Given the description of an element on the screen output the (x, y) to click on. 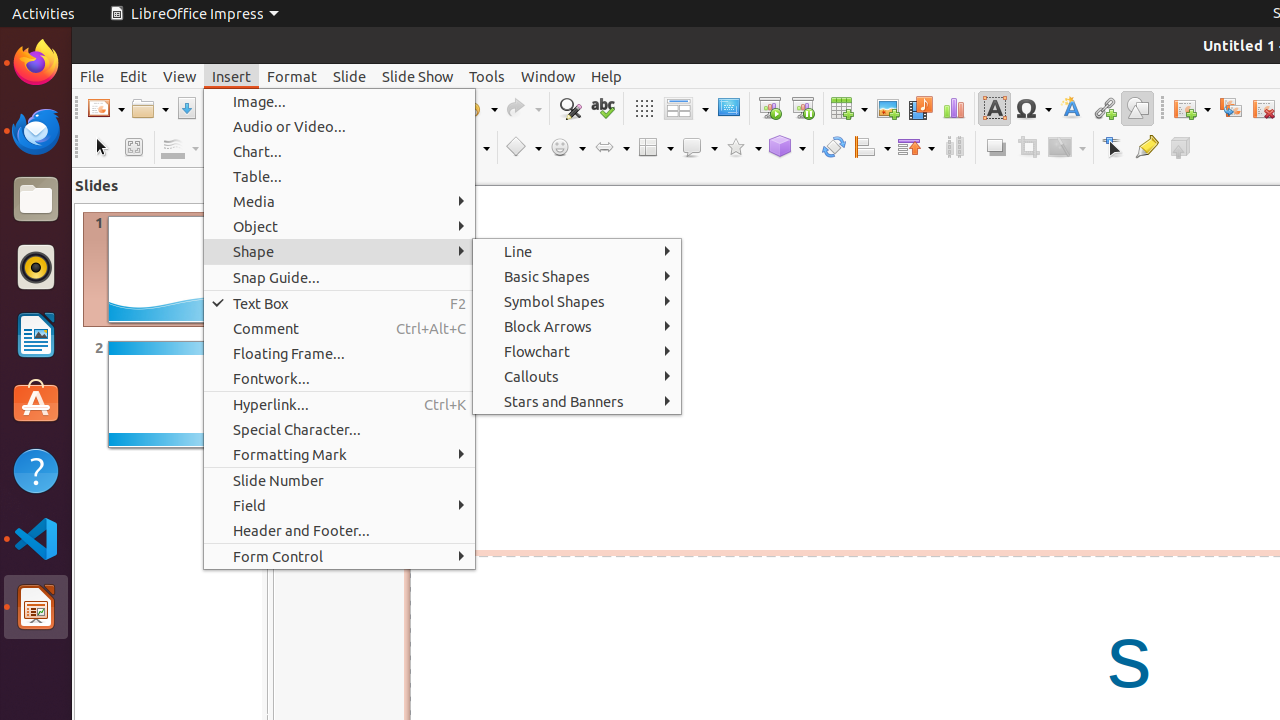
Insert Element type: menu (231, 76)
Image... Element type: menu-item (339, 101)
Symbol Shapes Element type: menu (577, 301)
Chart... Element type: menu-item (339, 151)
Block Arrows Element type: menu (577, 326)
